Given the description of an element on the screen output the (x, y) to click on. 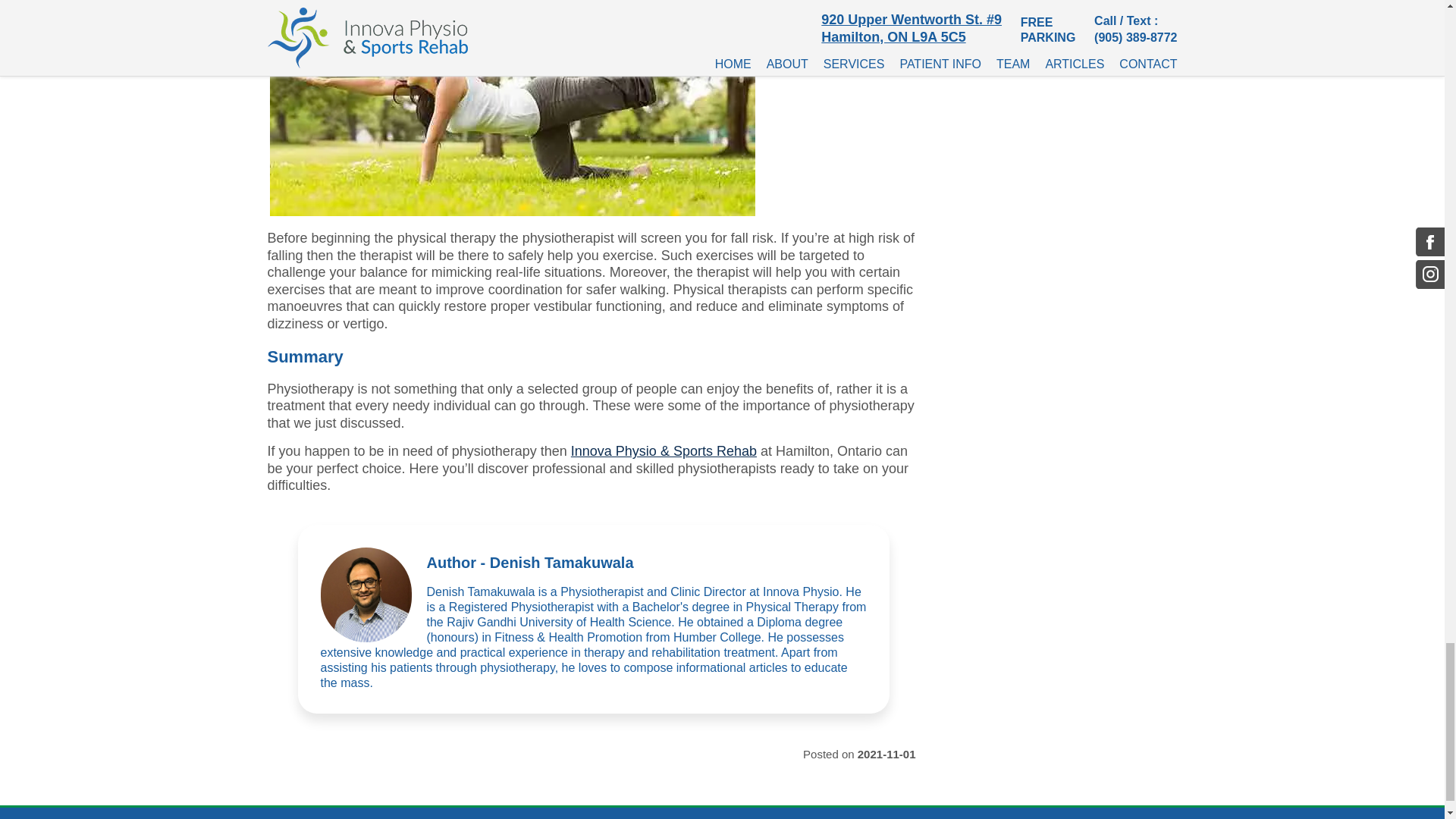
Denish Tambakuwala (365, 594)
